Given the description of an element on the screen output the (x, y) to click on. 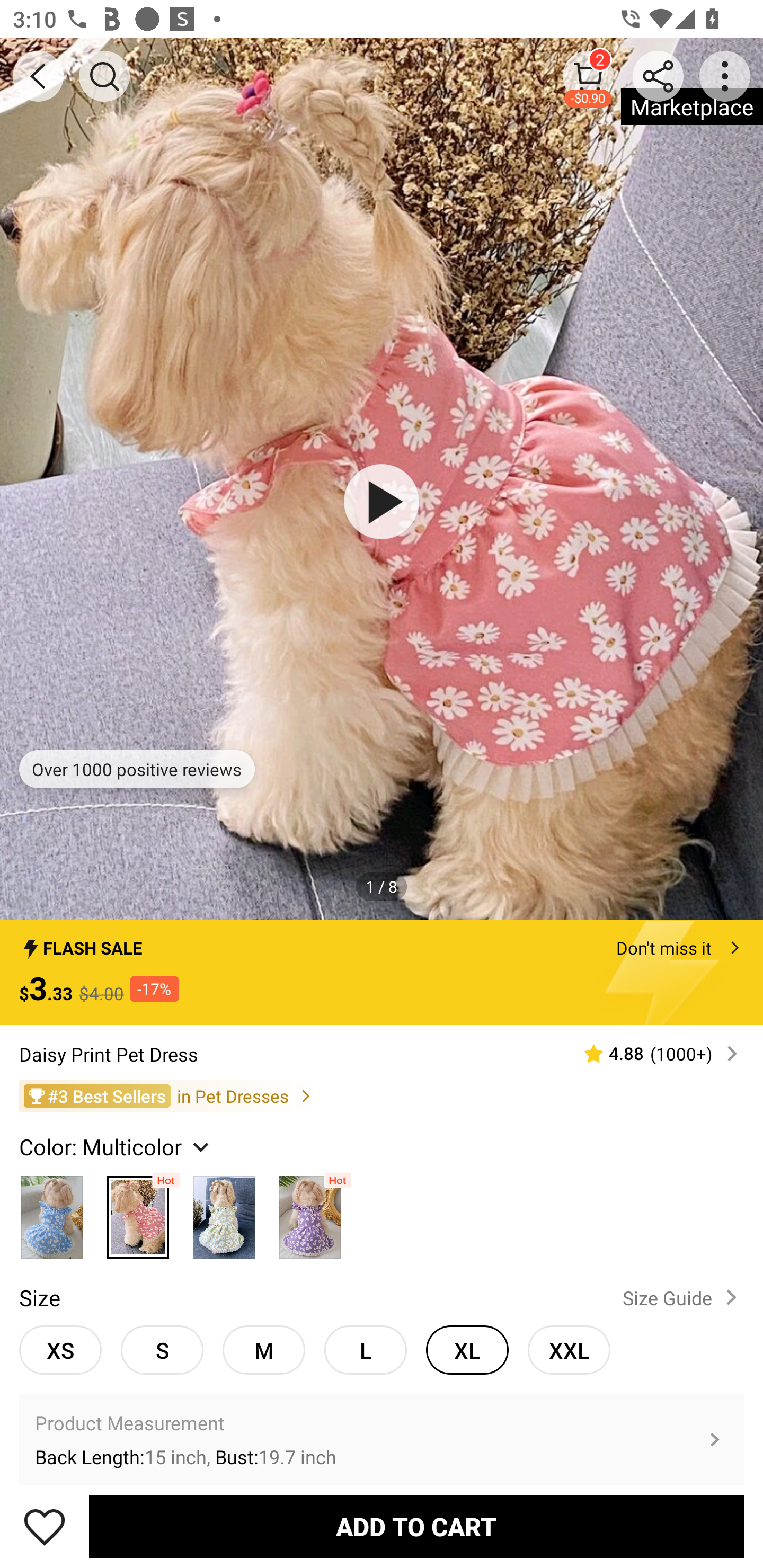
BACK (38, 75)
2 -$0.90 (588, 75)
1 / 8 (381, 885)
FLASH SALE Don't miss it $3.33 $4.00 -17% (381, 972)
FLASH SALE Don't miss it (381, 942)
4.88 (1000‎+) (653, 1053)
#3 Best Sellers in Pet Dresses (381, 1095)
Color: Multicolor (116, 1146)
Blue (52, 1212)
Multicolor (138, 1212)
Multicolor (224, 1212)
Purple (309, 1212)
Size (39, 1297)
Size Guide (682, 1297)
XS XSunselected option (60, 1349)
S Sunselected option (161, 1349)
M Munselected option (263, 1349)
L Lunselected option (365, 1349)
XL XLselected option (466, 1349)
XXL XXLunselected option (568, 1349)
ADD TO CART (416, 1526)
Save (44, 1526)
